Given the description of an element on the screen output the (x, y) to click on. 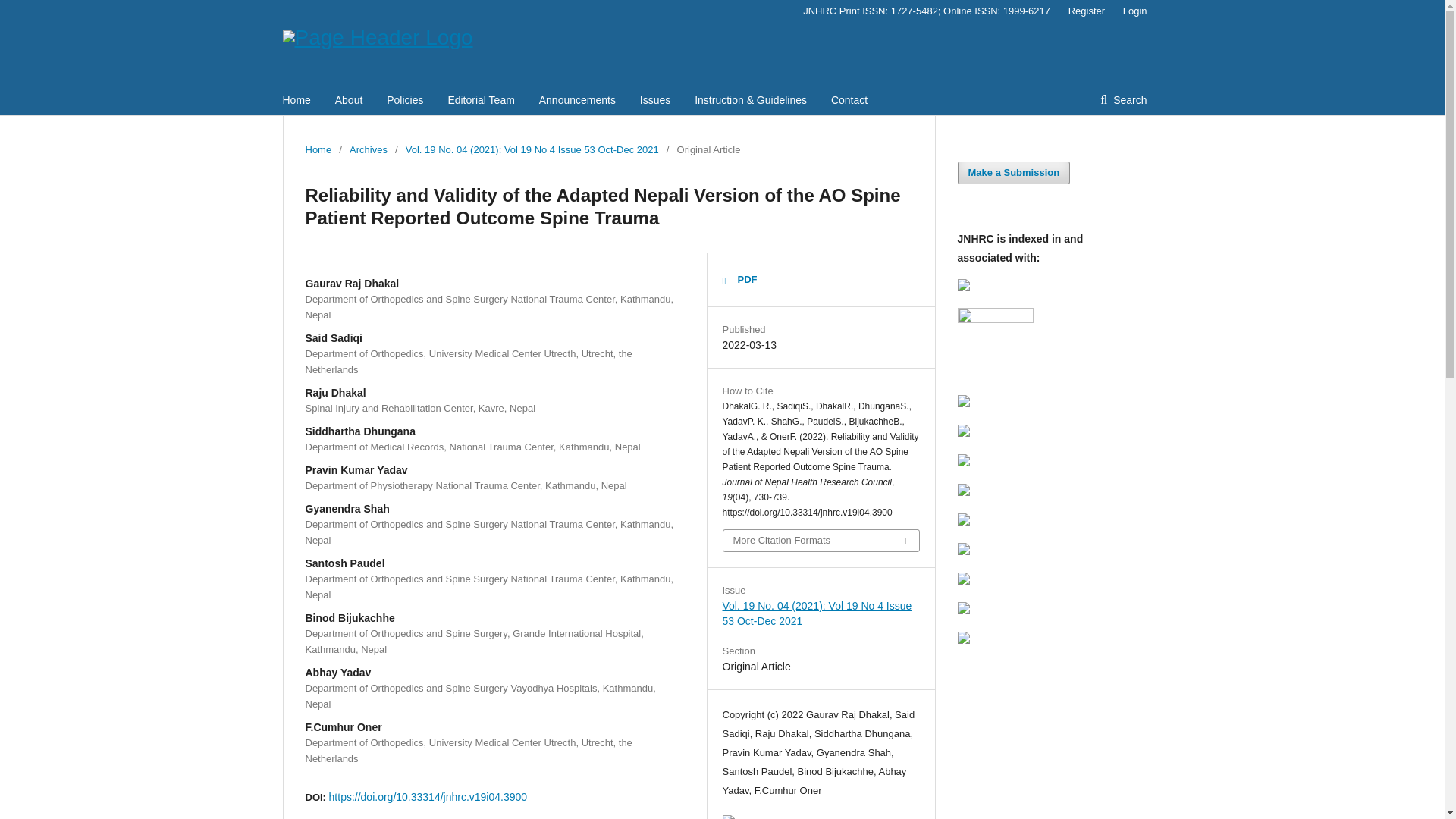
JNHRC Print ISSN: 1727-5482; Online ISSN: 1999-6217 (926, 11)
Login (1131, 11)
More Citation Formats (820, 540)
Archives (368, 150)
PDF (739, 279)
Home (296, 100)
Issues (654, 100)
Search (1122, 100)
About (348, 100)
Home (317, 150)
Editorial Team (479, 100)
Contact (849, 100)
Register (1086, 11)
Announcements (576, 100)
Policies (405, 100)
